Given the description of an element on the screen output the (x, y) to click on. 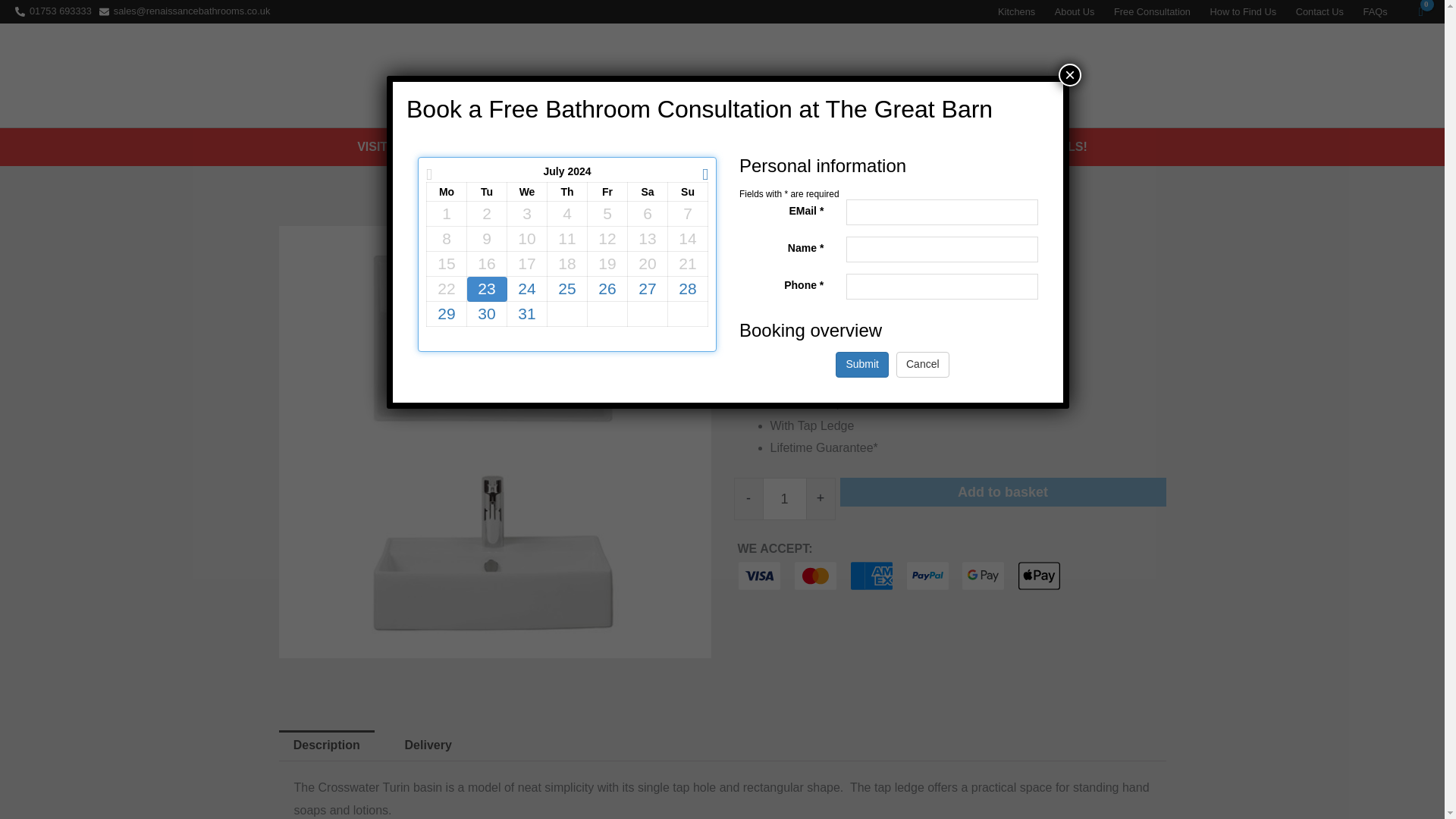
Free Consultation (1151, 11)
Kitchens (1016, 11)
Home (938, 74)
Saturday (646, 191)
FAQs (1375, 11)
Sunday (687, 191)
Thursday (566, 191)
Wednesday (527, 191)
Monday (446, 191)
About Us (1074, 11)
Contact Us (1319, 11)
Online Store (1015, 74)
How to Find Us (1242, 11)
01753 693333 (52, 11)
